Given the description of an element on the screen output the (x, y) to click on. 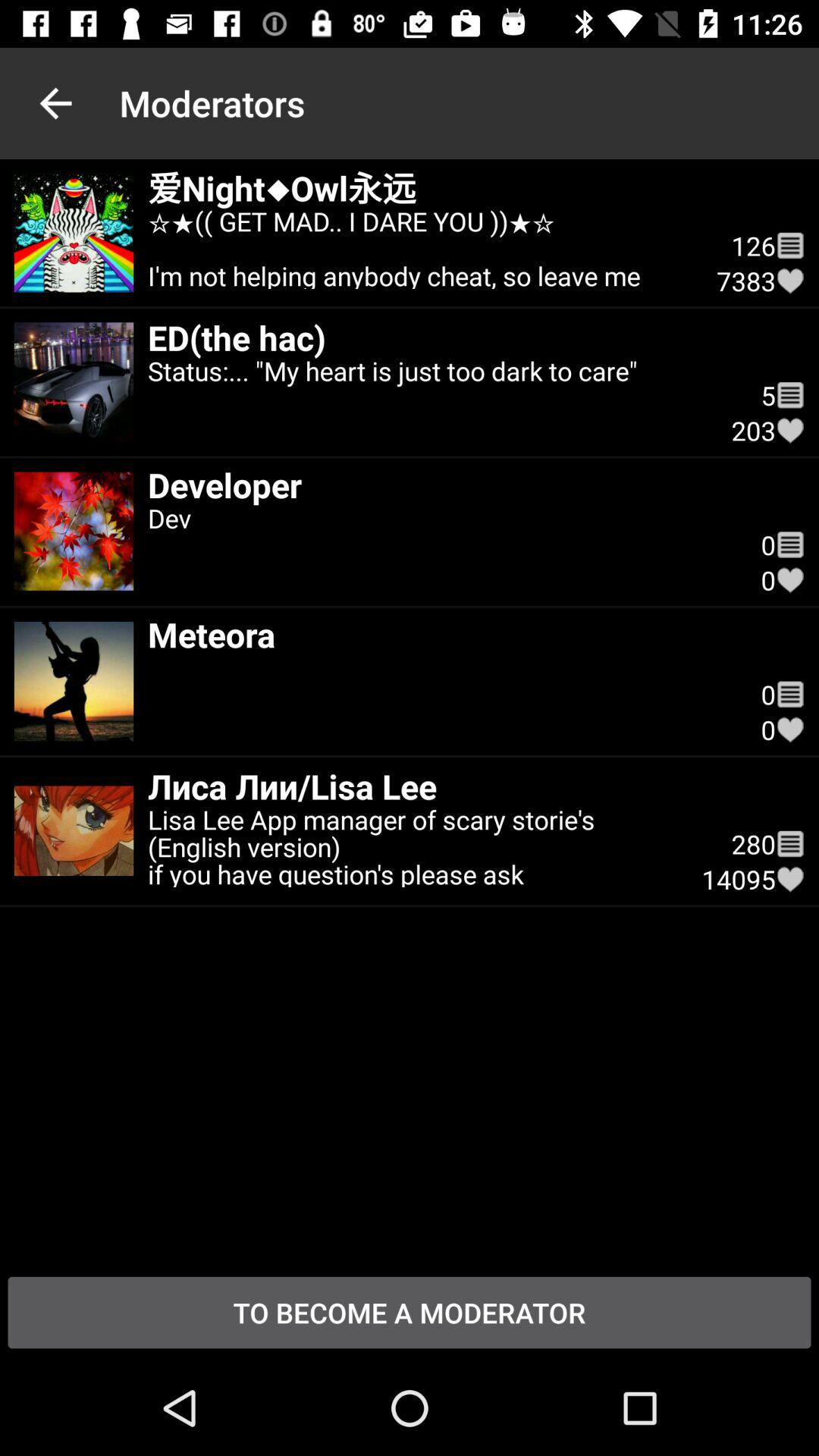
launch the icon below the moderators app (417, 245)
